Given the description of an element on the screen output the (x, y) to click on. 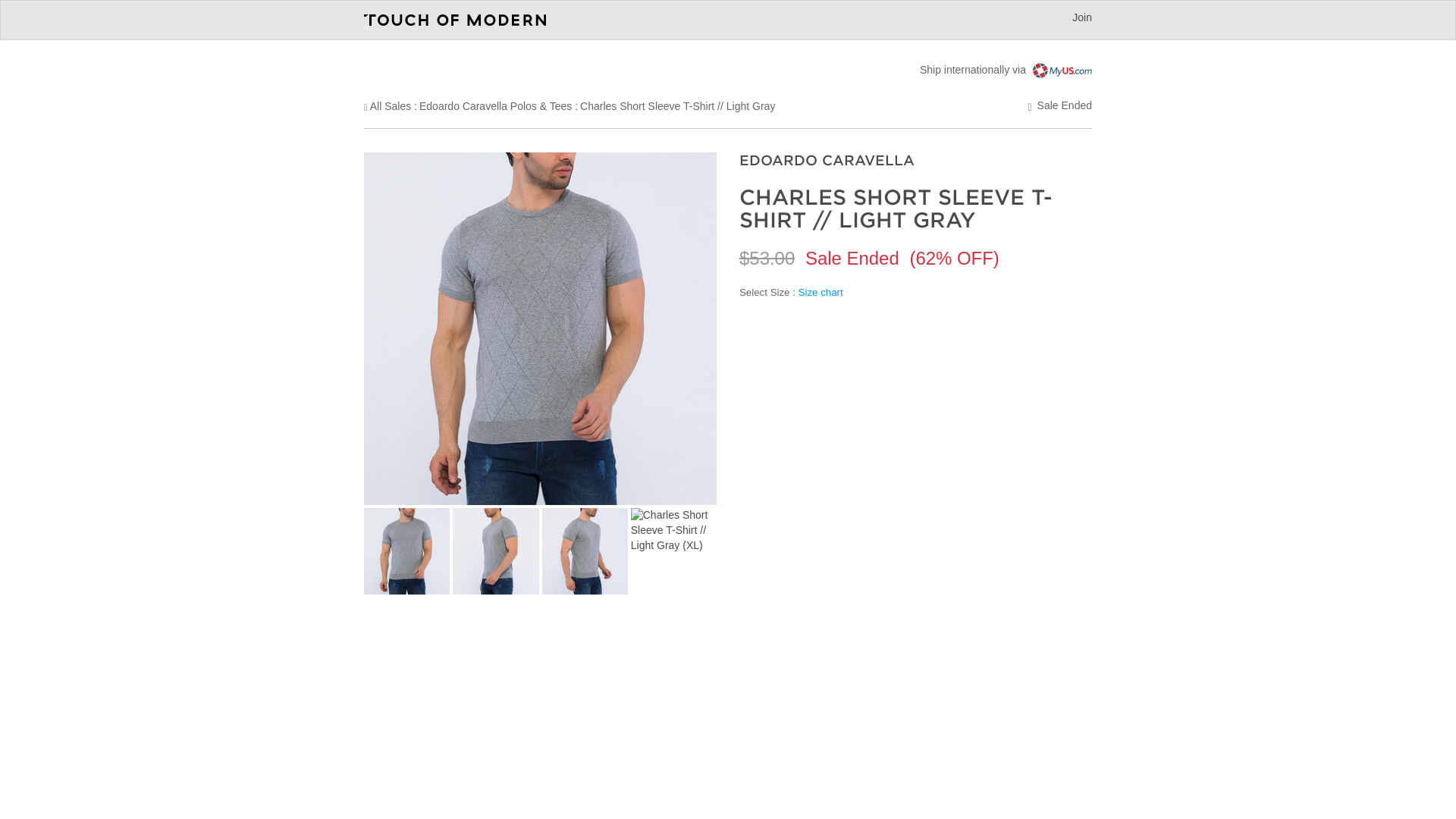
Ship internationally via (1006, 69)
Join (1081, 17)
Size chart (820, 292)
All Sales (389, 105)
All Sales (389, 105)
